Given the description of an element on the screen output the (x, y) to click on. 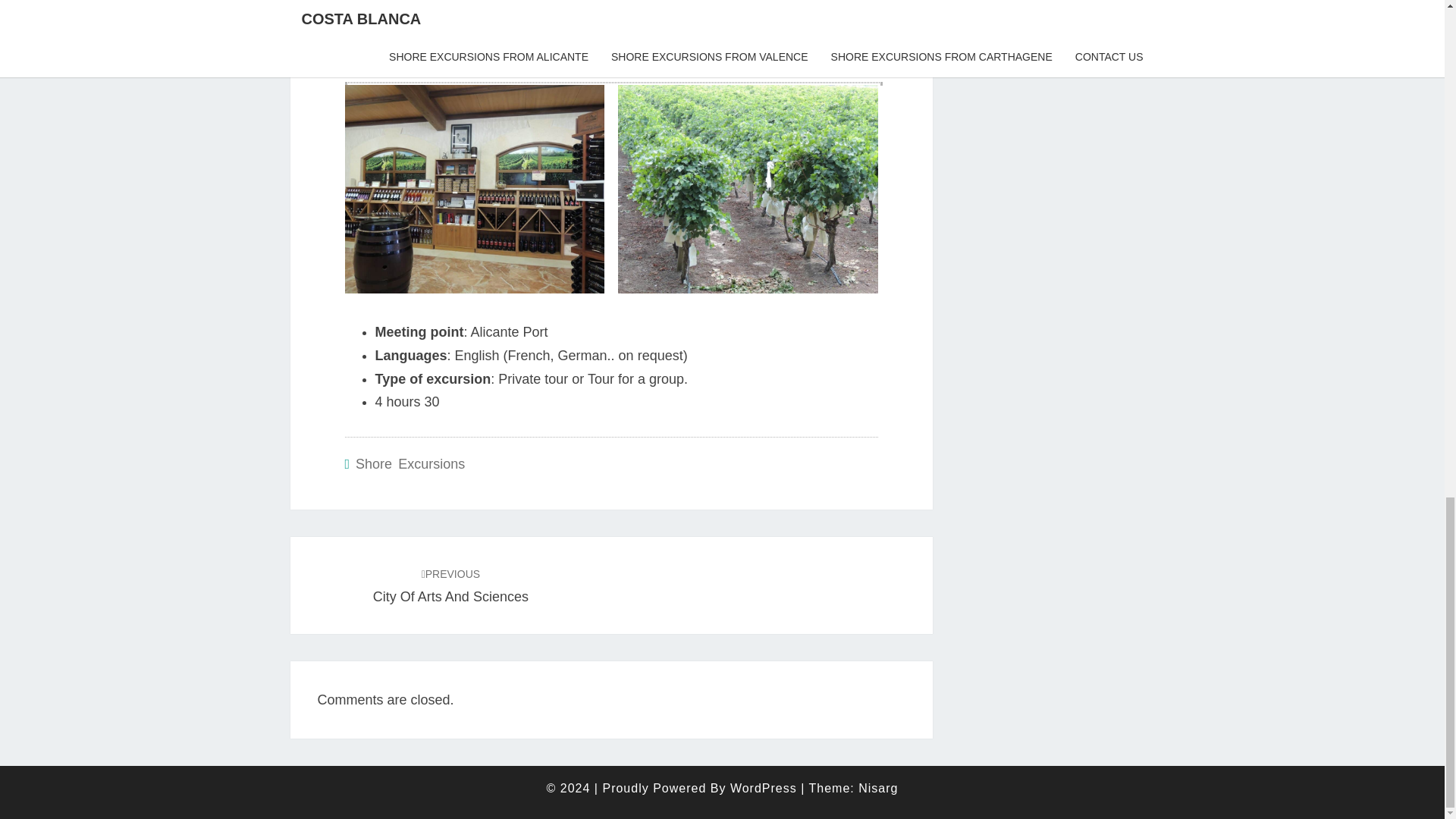
WordPress (763, 788)
Nisarg (878, 788)
Shore Excursions (450, 584)
